Given the description of an element on the screen output the (x, y) to click on. 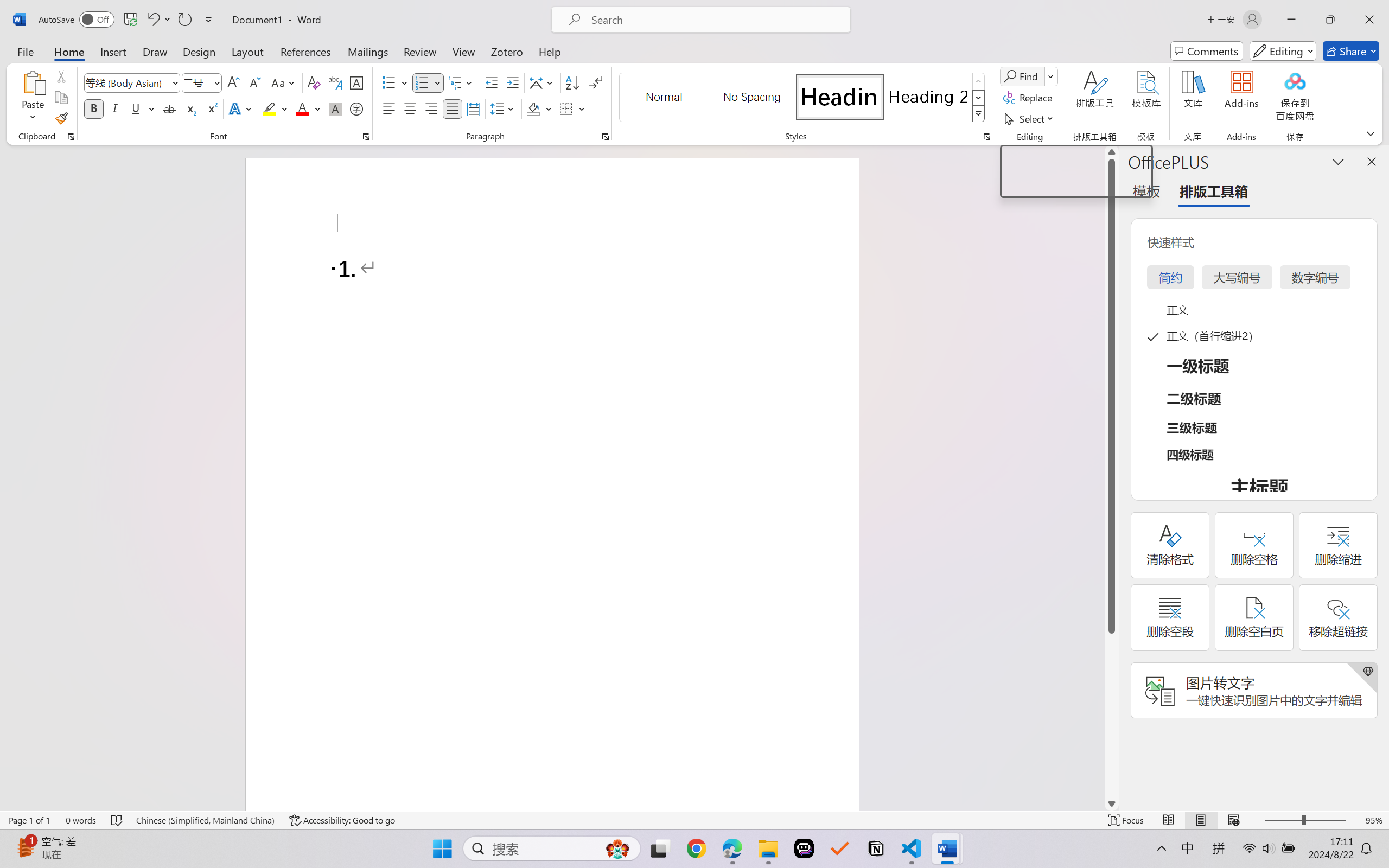
Zoom 95% (1374, 819)
Microsoft search (715, 19)
